Given the description of an element on the screen output the (x, y) to click on. 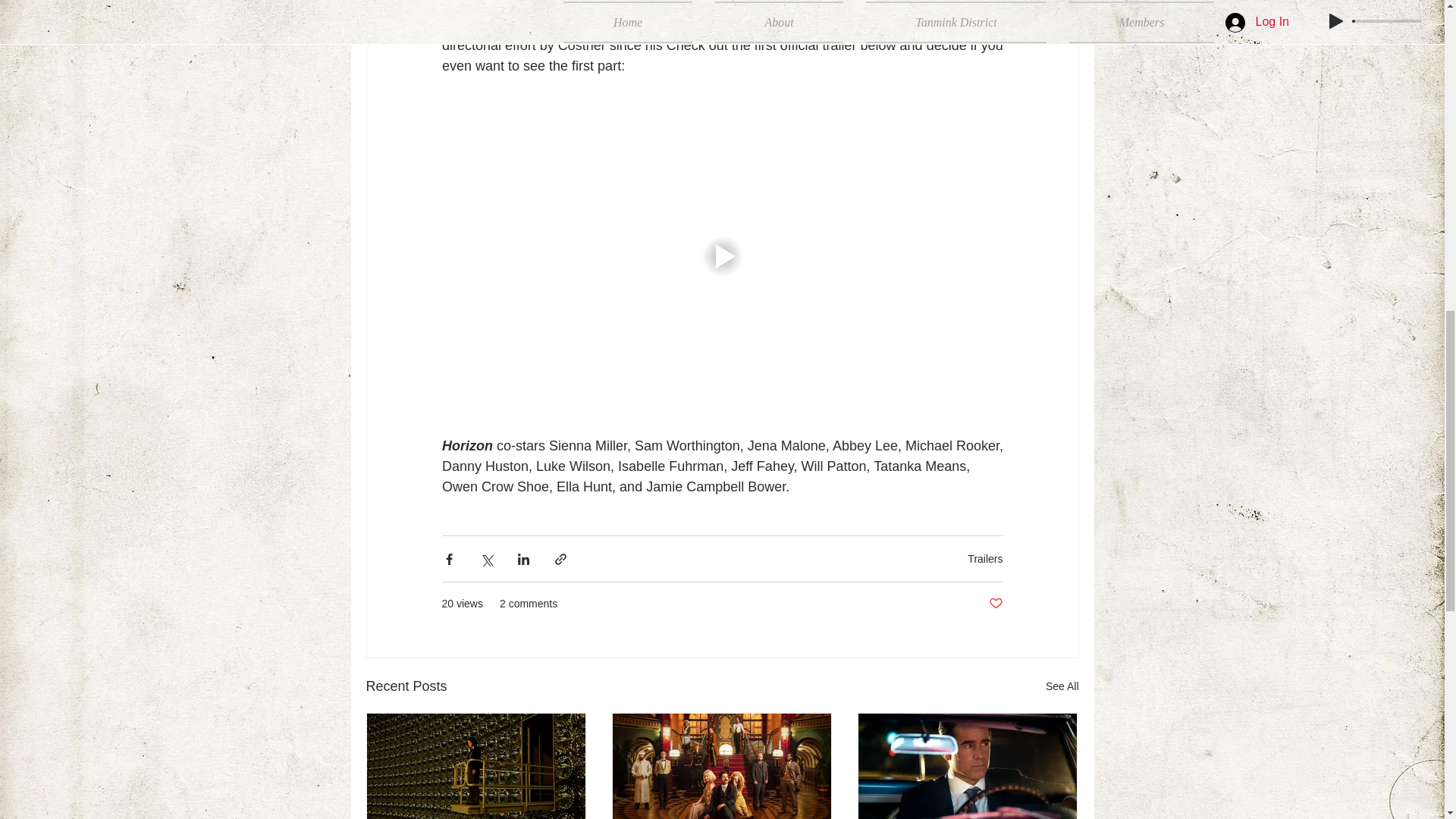
Post not marked as liked (995, 603)
Trailers (985, 558)
See All (1061, 686)
